Given the description of an element on the screen output the (x, y) to click on. 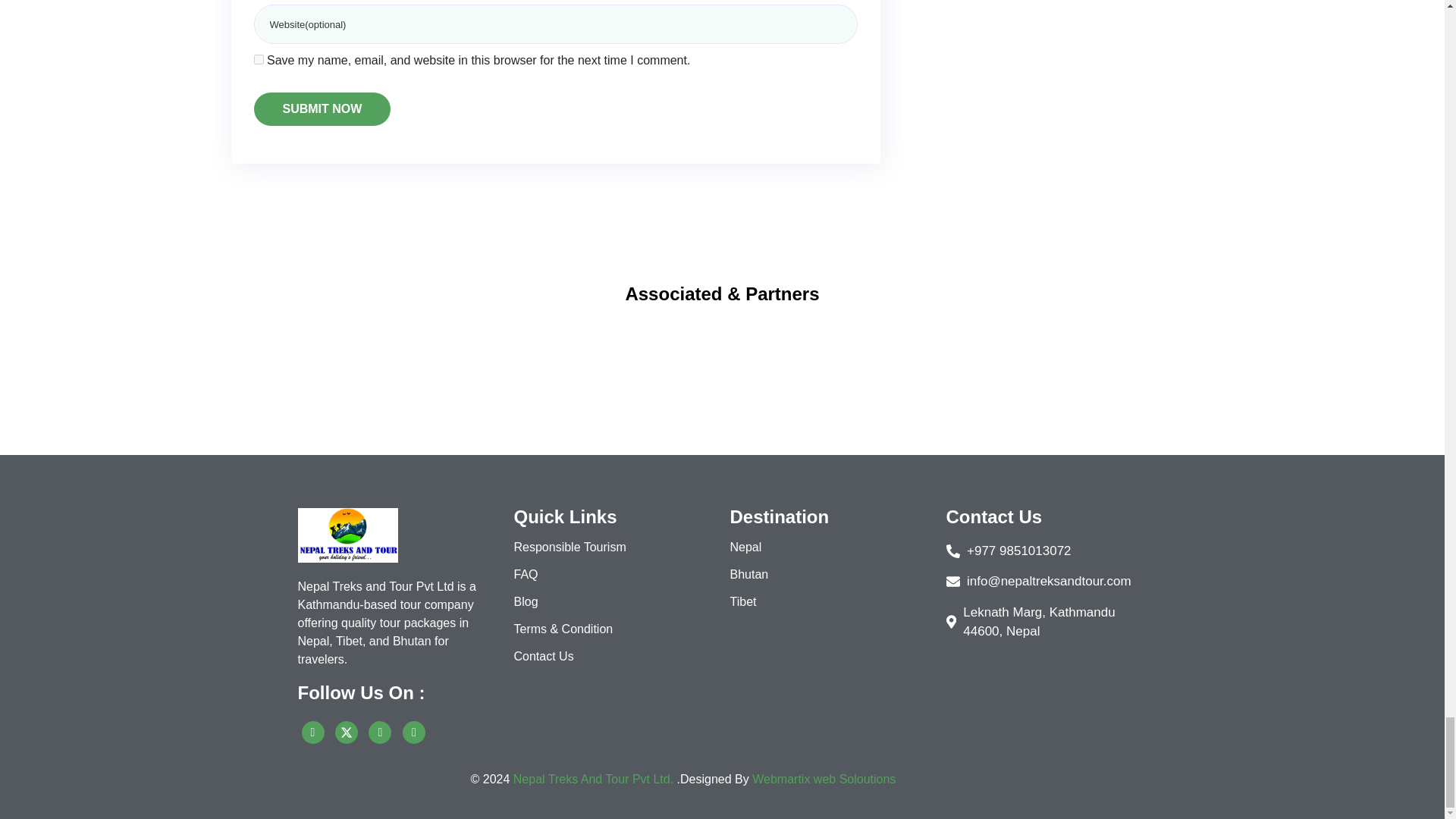
yes (258, 59)
Submit Now (321, 109)
